Given the description of an element on the screen output the (x, y) to click on. 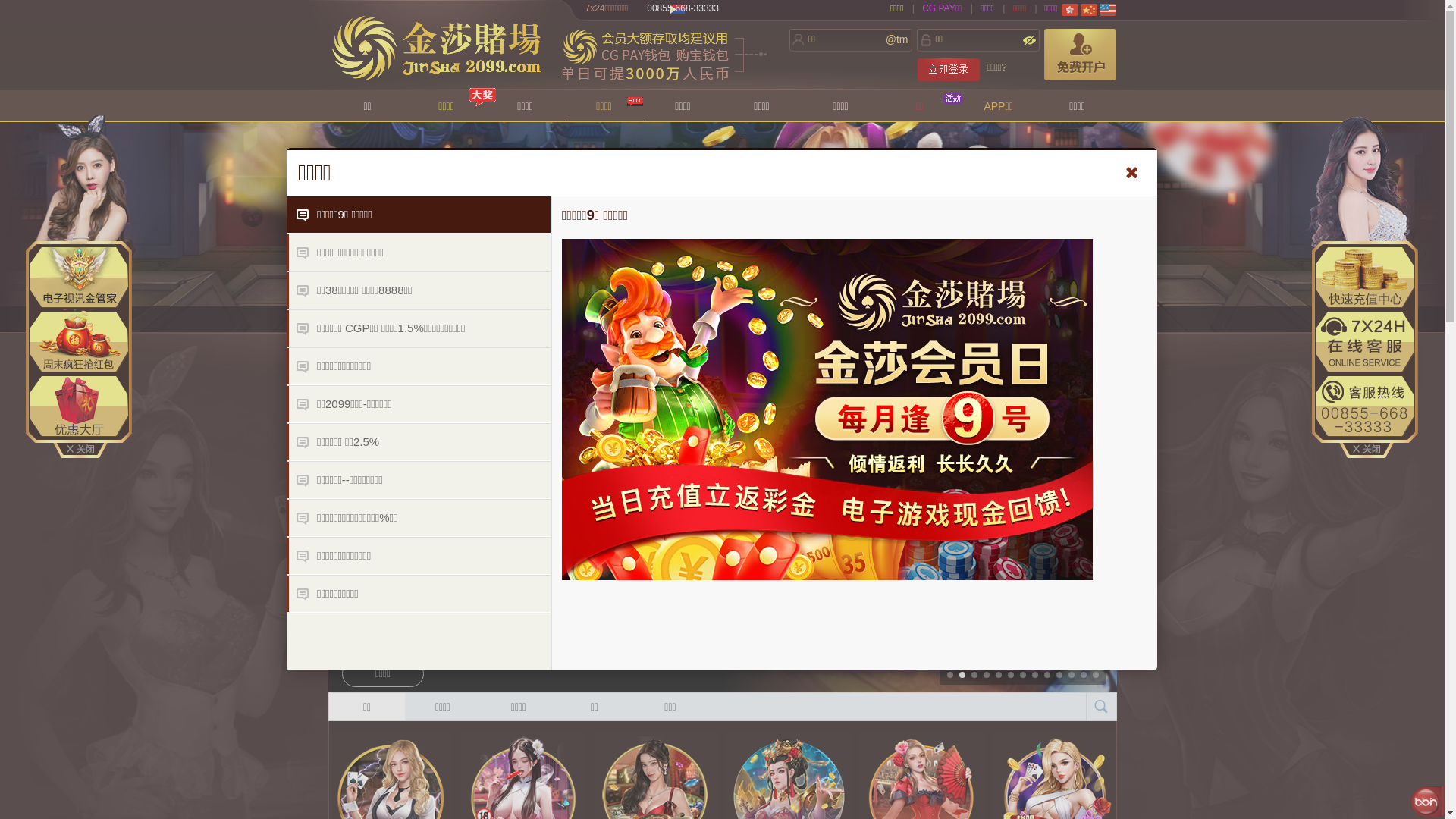
English Element type: hover (1107, 9)
